Given the description of an element on the screen output the (x, y) to click on. 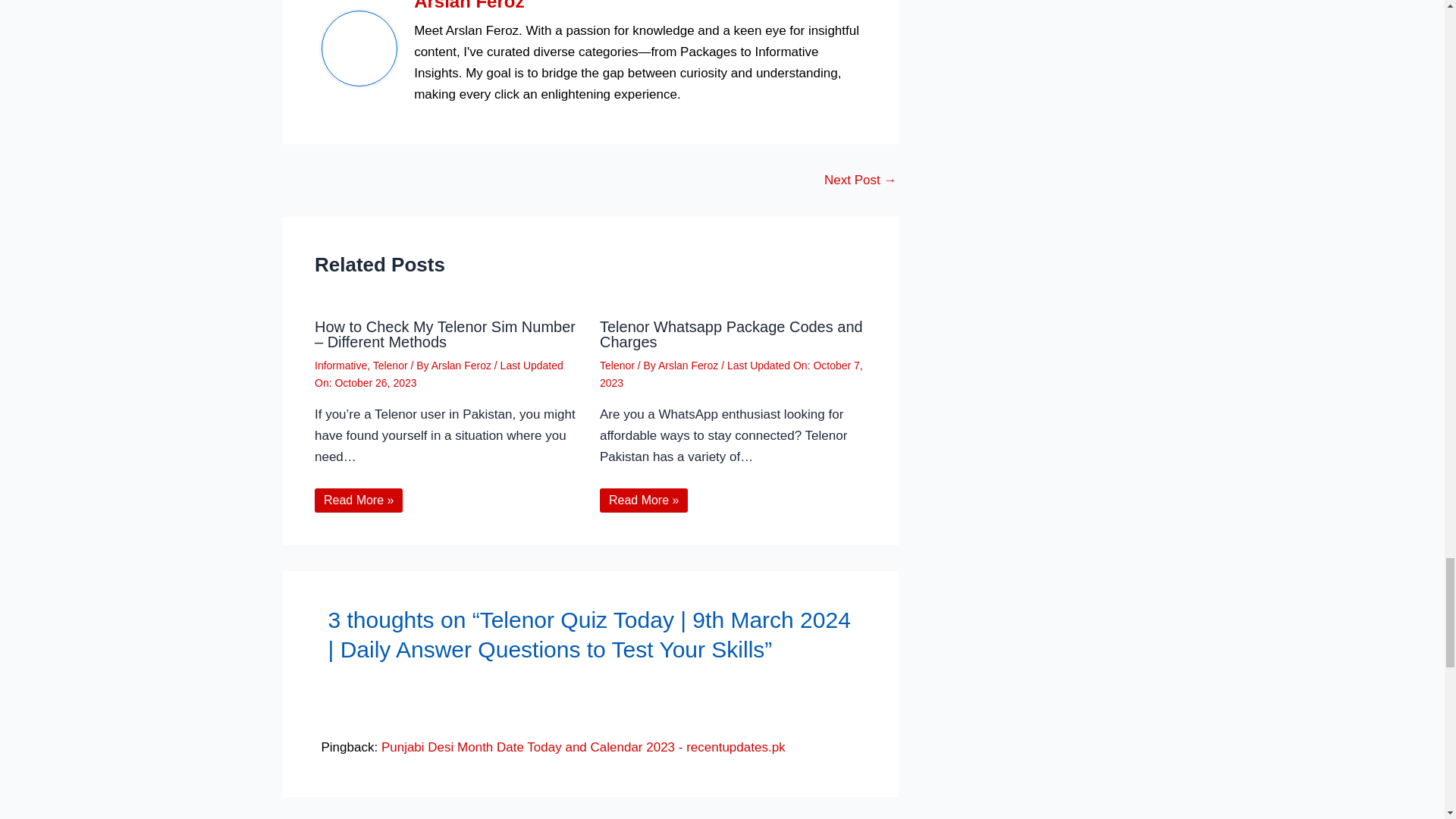
White Gold Price in Pakistan 2023: Complete Guide (860, 179)
View all posts by Arslan Feroz (689, 365)
View all posts by Arslan Feroz (462, 365)
